Given the description of an element on the screen output the (x, y) to click on. 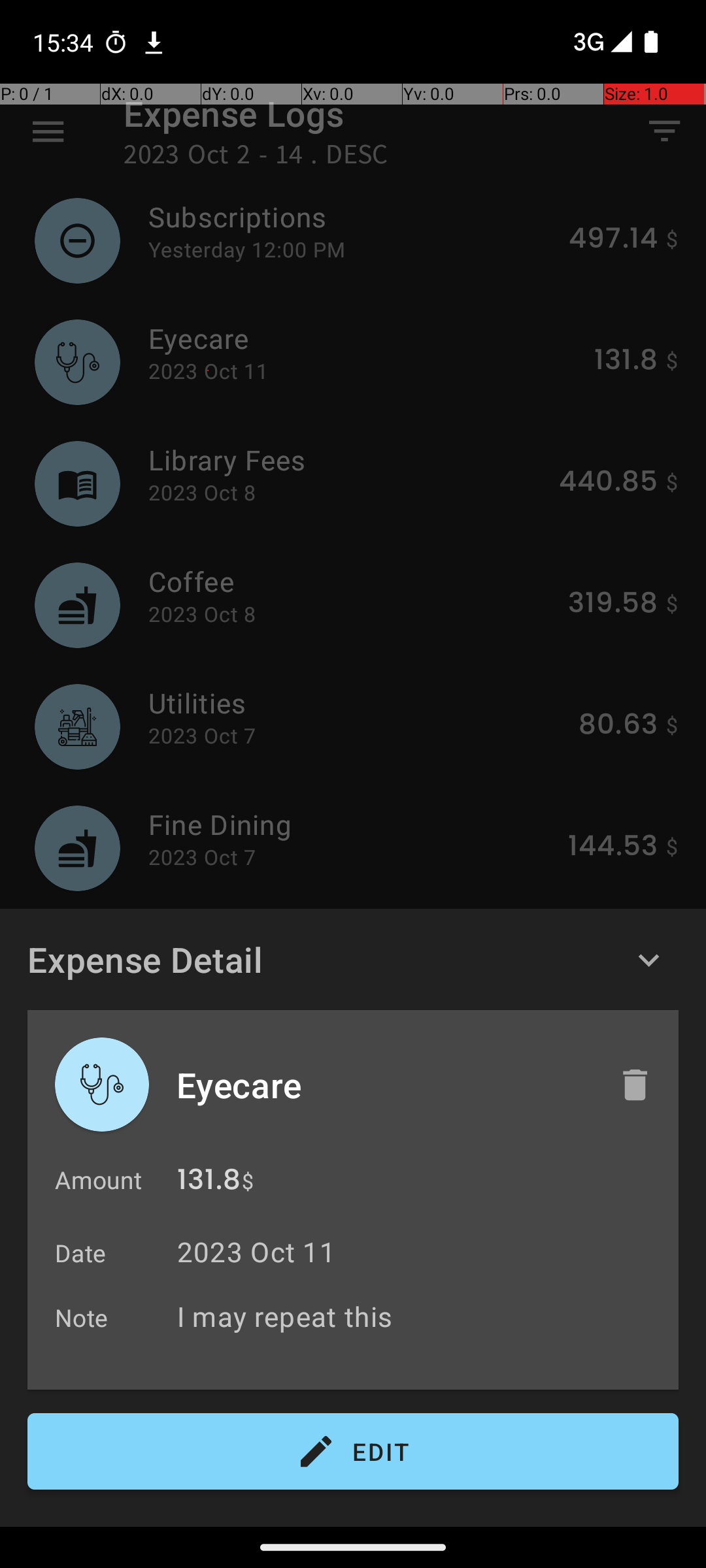
131.8 Element type: android.widget.TextView (208, 1182)
Chrome notification: m.youtube.com Element type: android.widget.ImageView (153, 41)
